Given the description of an element on the screen output the (x, y) to click on. 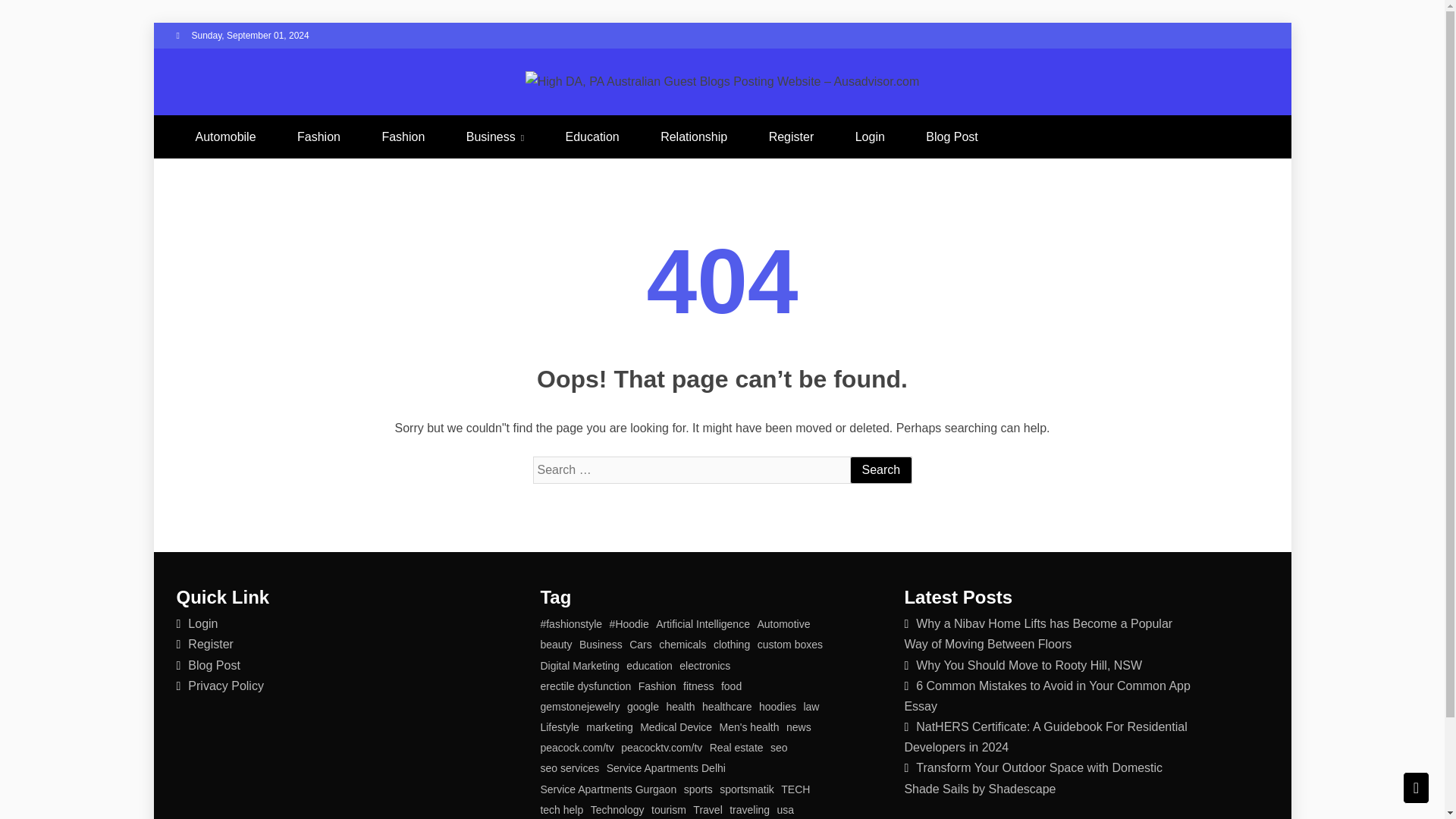
Automobile (224, 136)
education (649, 666)
Register (209, 644)
electronics (704, 666)
Relationship (693, 136)
gemstonejewelry (580, 707)
Fashion (318, 136)
Search (879, 470)
fitness (697, 687)
Search (879, 470)
